Given the description of an element on the screen output the (x, y) to click on. 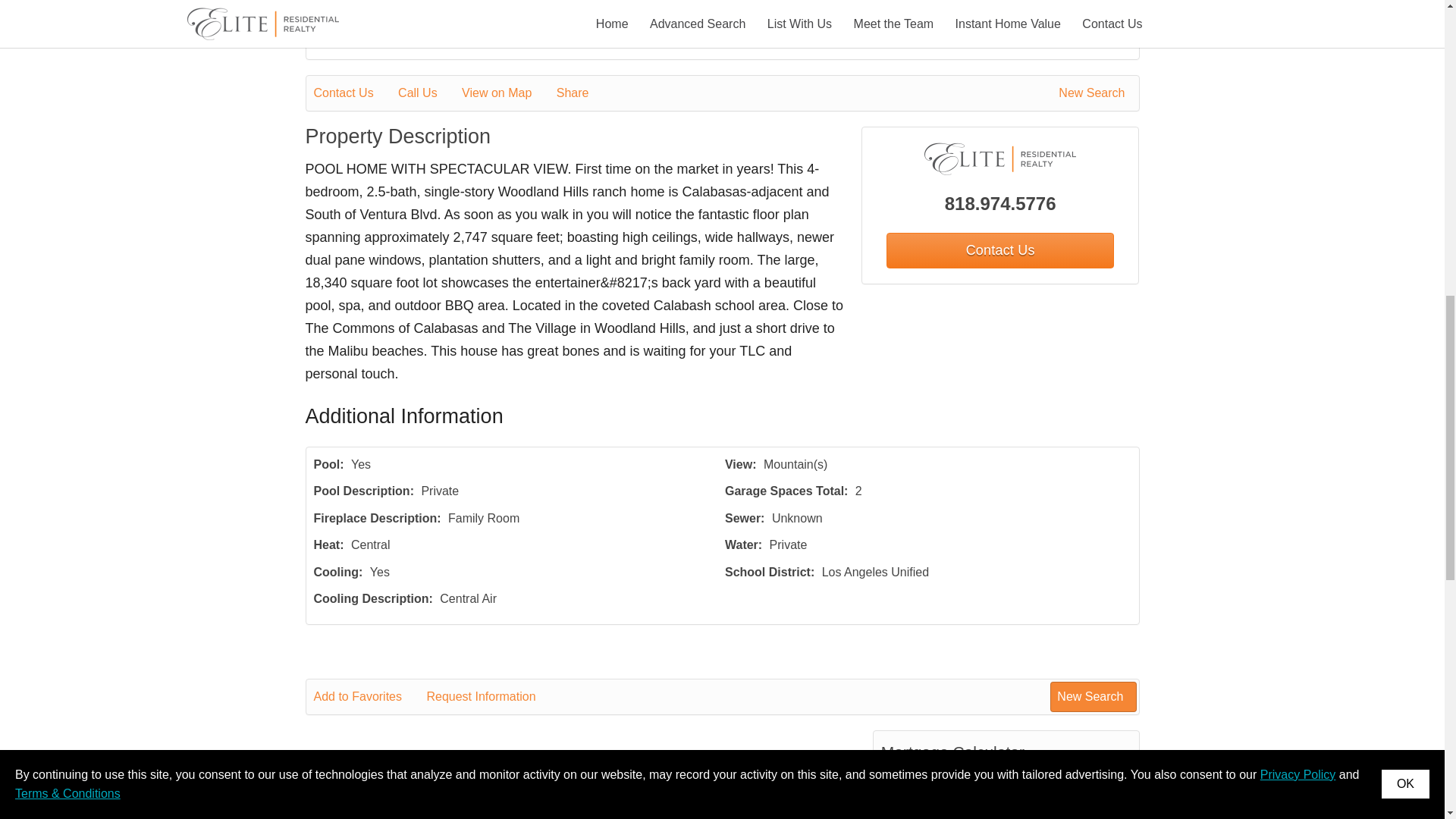
818.974.5776 (1000, 203)
1024000 (1068, 780)
Contact Us (999, 250)
Call Us (427, 92)
New Search (1094, 92)
6 (1037, 809)
Contact Us (354, 92)
View on Map (507, 92)
Share (583, 92)
